Given the description of an element on the screen output the (x, y) to click on. 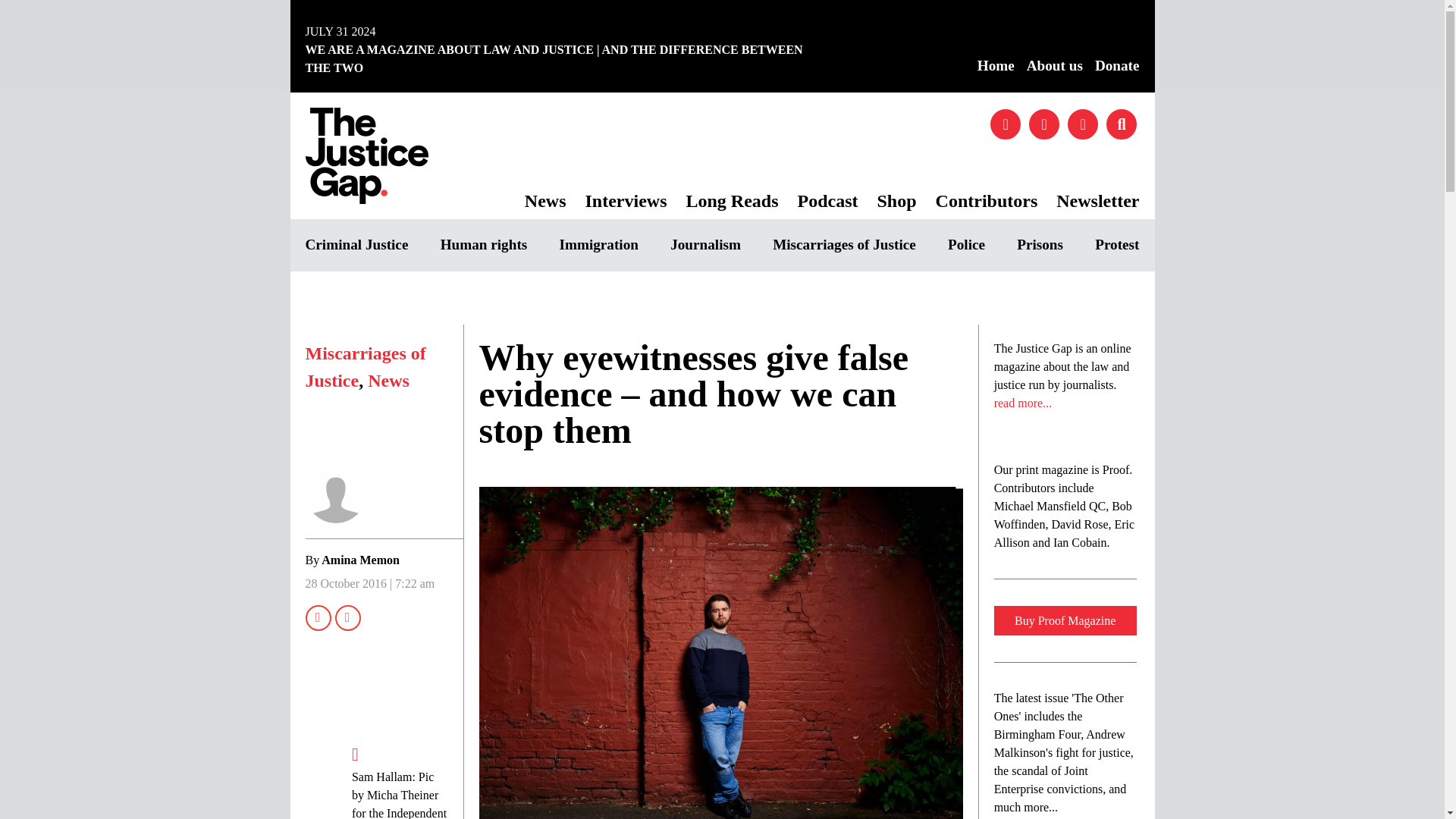
Journalism (705, 245)
Protest (1116, 245)
Contributors (992, 198)
Home (995, 65)
Miscarriages of Justice (844, 245)
Shop (902, 198)
Donate (1117, 65)
Podcast (833, 198)
Prisons (1039, 245)
News (551, 198)
